Given the description of an element on the screen output the (x, y) to click on. 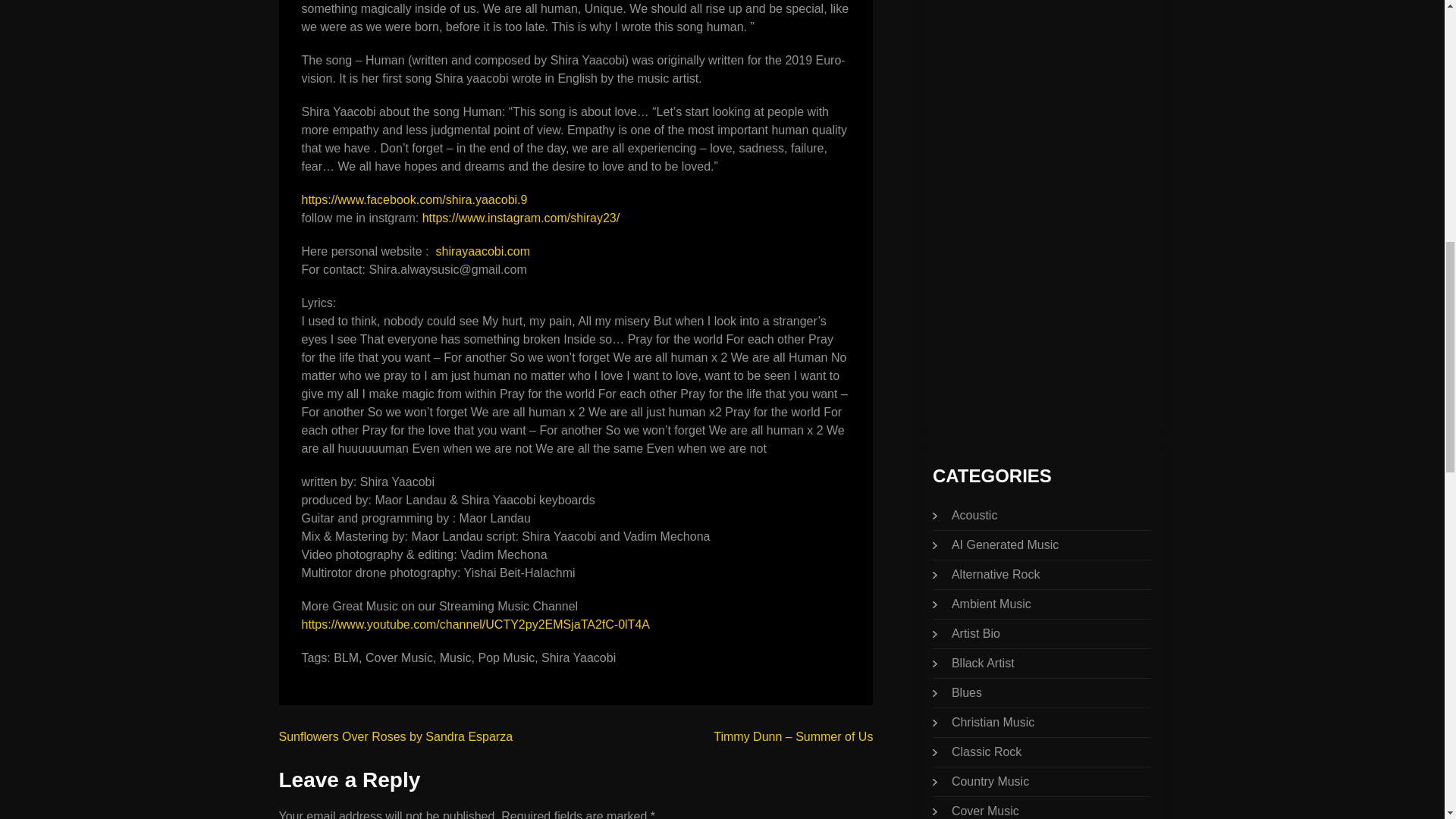
BLM (345, 657)
Cover Music (398, 657)
shirayaacobi.com (482, 250)
Christian Music (992, 721)
Bllack Artist (983, 662)
Cover Music (985, 810)
Ambient Music (991, 603)
Country Music (990, 780)
Music (455, 657)
Acoustic (974, 514)
